Given the description of an element on the screen output the (x, y) to click on. 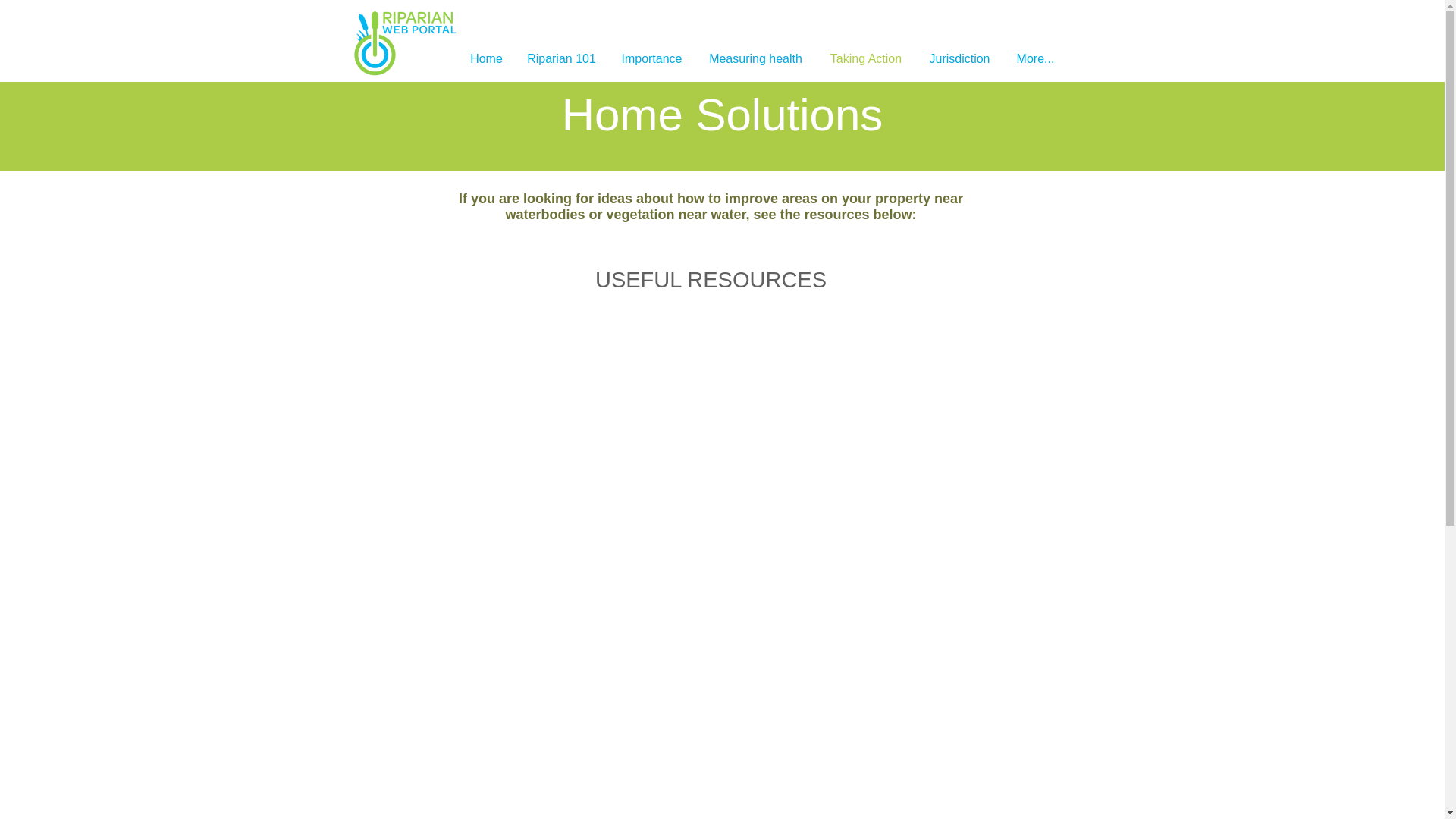
Measuring health (755, 58)
Jurisdiction (959, 58)
Home (486, 58)
Riparian 101 (561, 58)
Taking Action (865, 58)
Importance (651, 58)
